Given the description of an element on the screen output the (x, y) to click on. 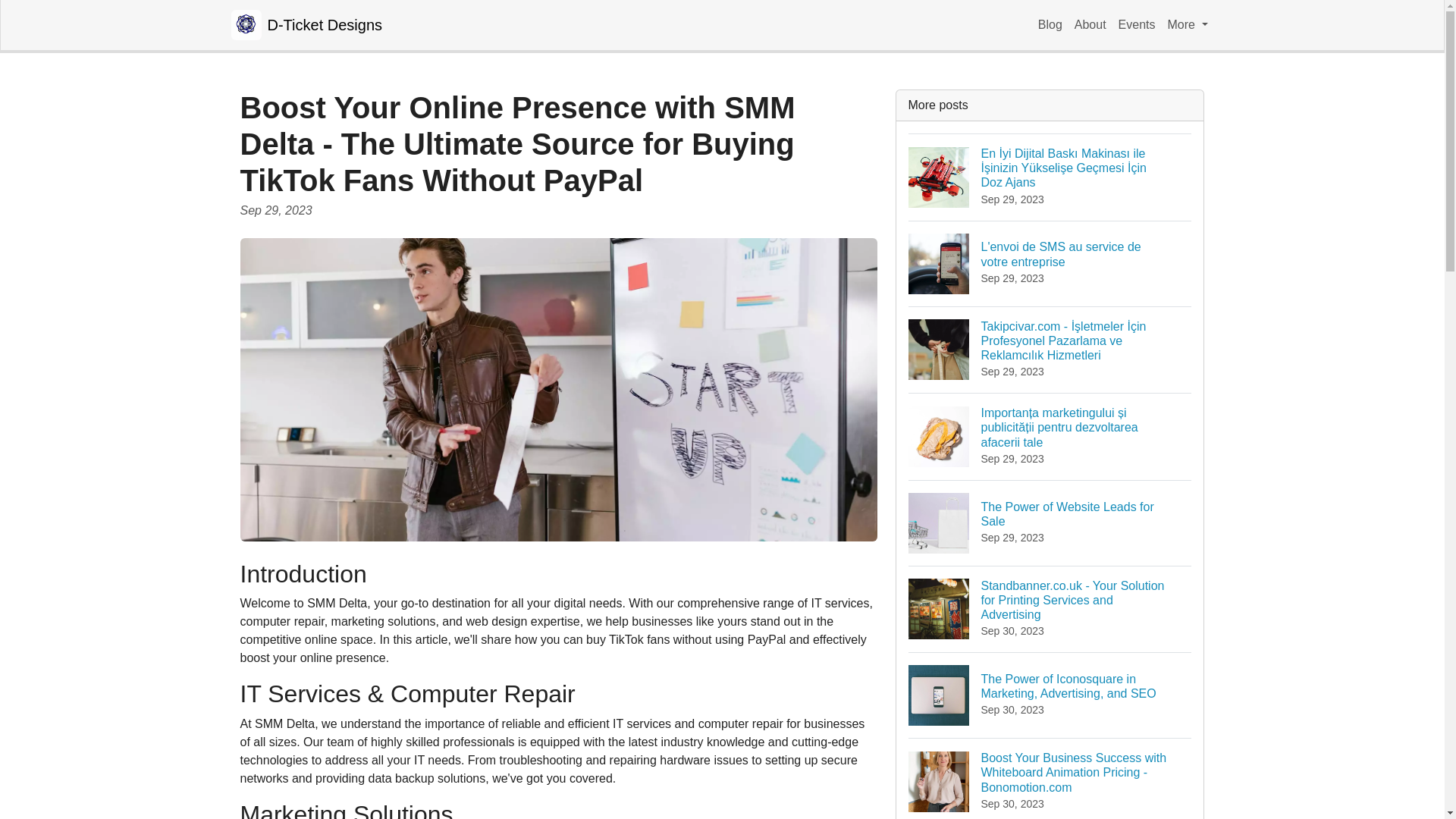
About (1050, 522)
Blog (1090, 24)
More (1050, 24)
D-Ticket Designs (1187, 24)
Events (1050, 263)
